Given the description of an element on the screen output the (x, y) to click on. 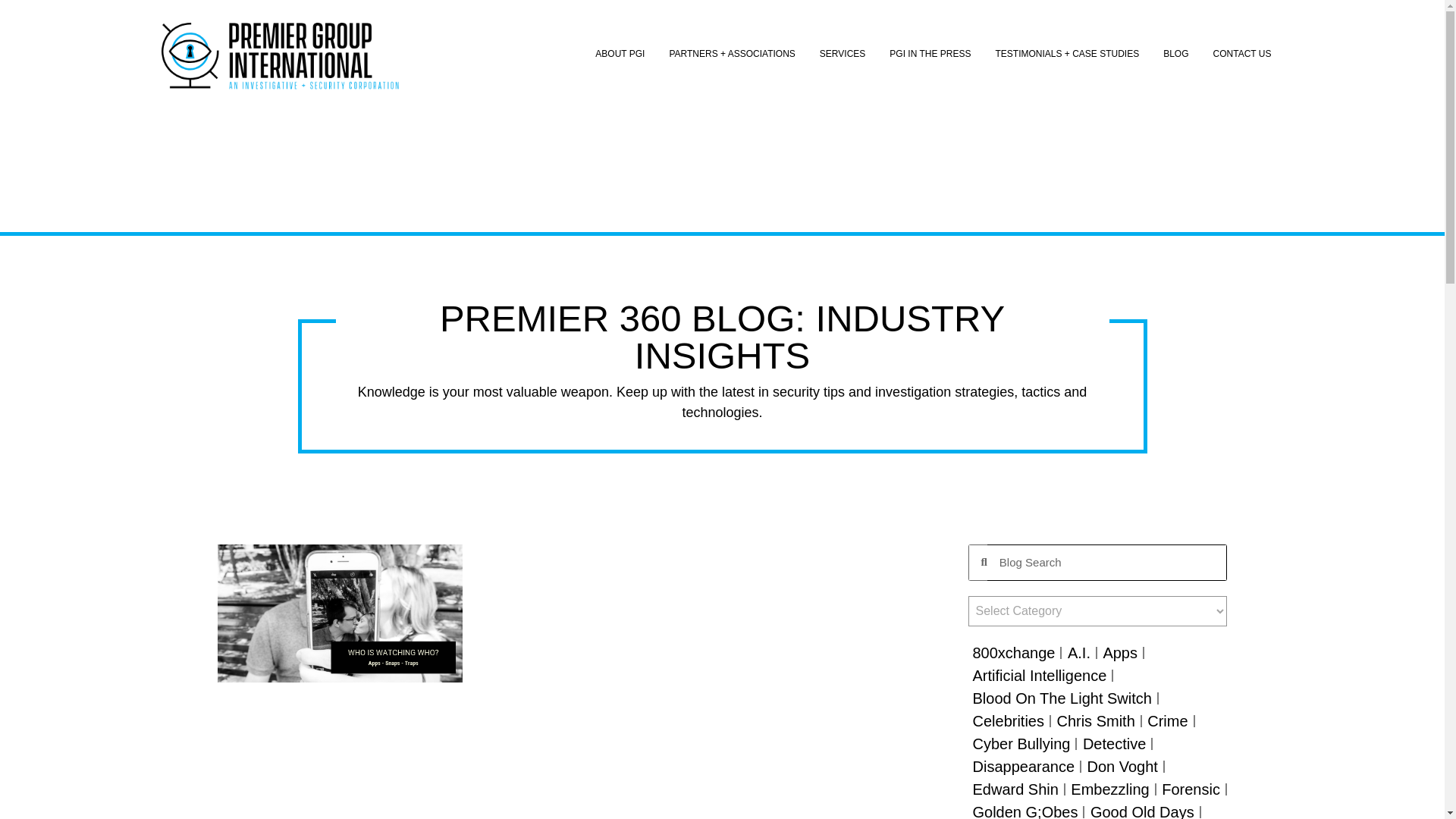
About PGI (619, 53)
Celebrities (1008, 721)
Chris Smith (1094, 721)
Blood On The Light Switch (1062, 698)
800xchange (1013, 652)
PGI in the Press (929, 53)
Artificial Intelligence (1039, 675)
SERVICES (842, 53)
Apps (1119, 652)
CONTACT US (1242, 53)
Blog (1175, 53)
PGI IN THE PRESS (929, 53)
Contact Us (1242, 53)
A.I. (1078, 652)
Services (842, 53)
